Given the description of an element on the screen output the (x, y) to click on. 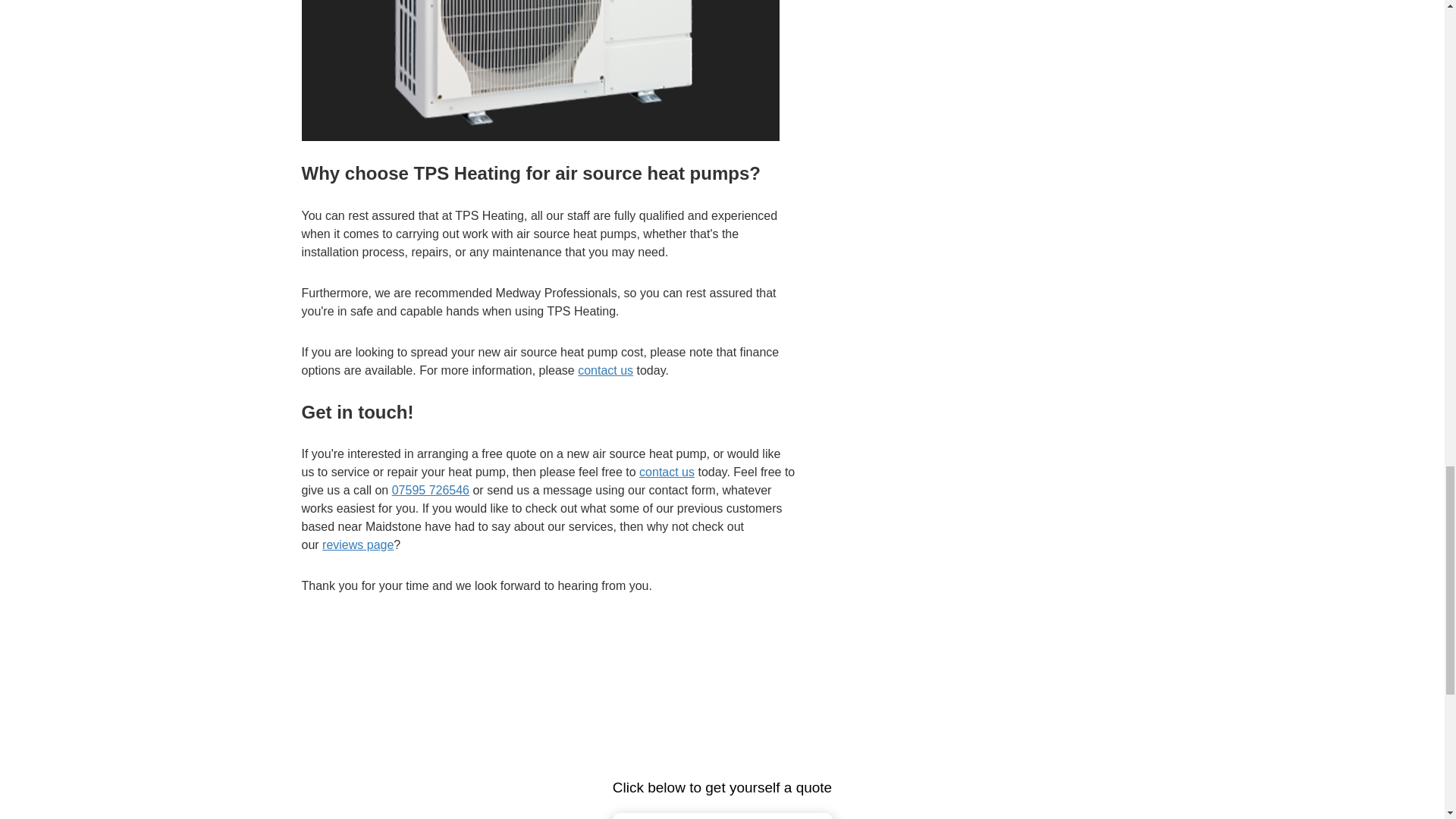
GET A QUOTE (722, 816)
07595 726546 (429, 490)
contact us (666, 472)
reviews page (357, 544)
contact us (605, 369)
